Given the description of an element on the screen output the (x, y) to click on. 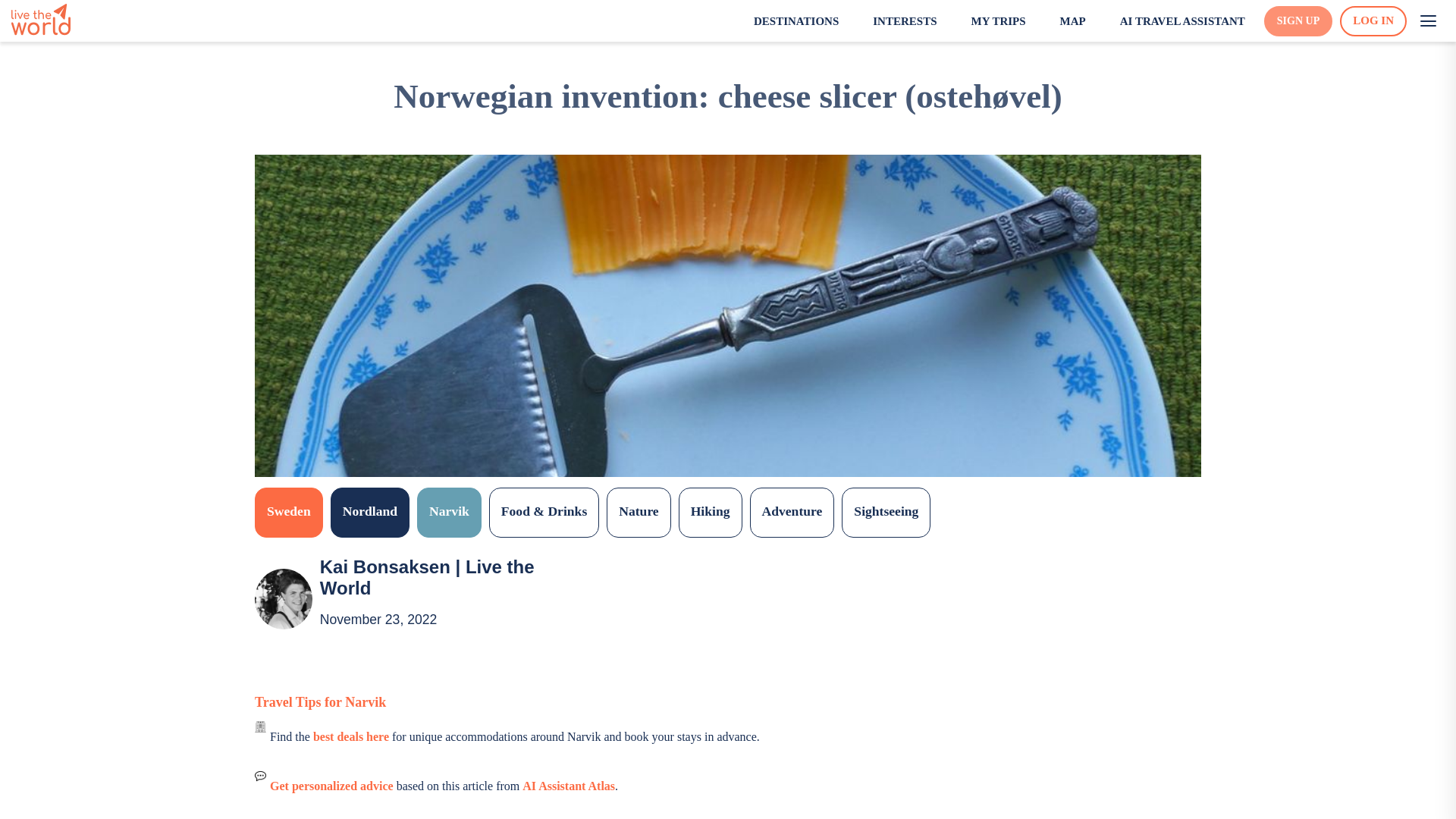
AI Assistant Atlas (568, 785)
Adventure (791, 512)
Sweden (288, 512)
Narvik (448, 512)
MY TRIPS (988, 21)
DESTINATIONS (786, 21)
Get personalized advice (331, 785)
LOG IN (1372, 20)
best deals here (350, 736)
AI TRAVEL ASSISTANT (1172, 21)
SIGN UP (1297, 21)
LOG IN (1372, 20)
Sightseeing (885, 512)
Nature (638, 512)
Hiking (710, 512)
